Given the description of an element on the screen output the (x, y) to click on. 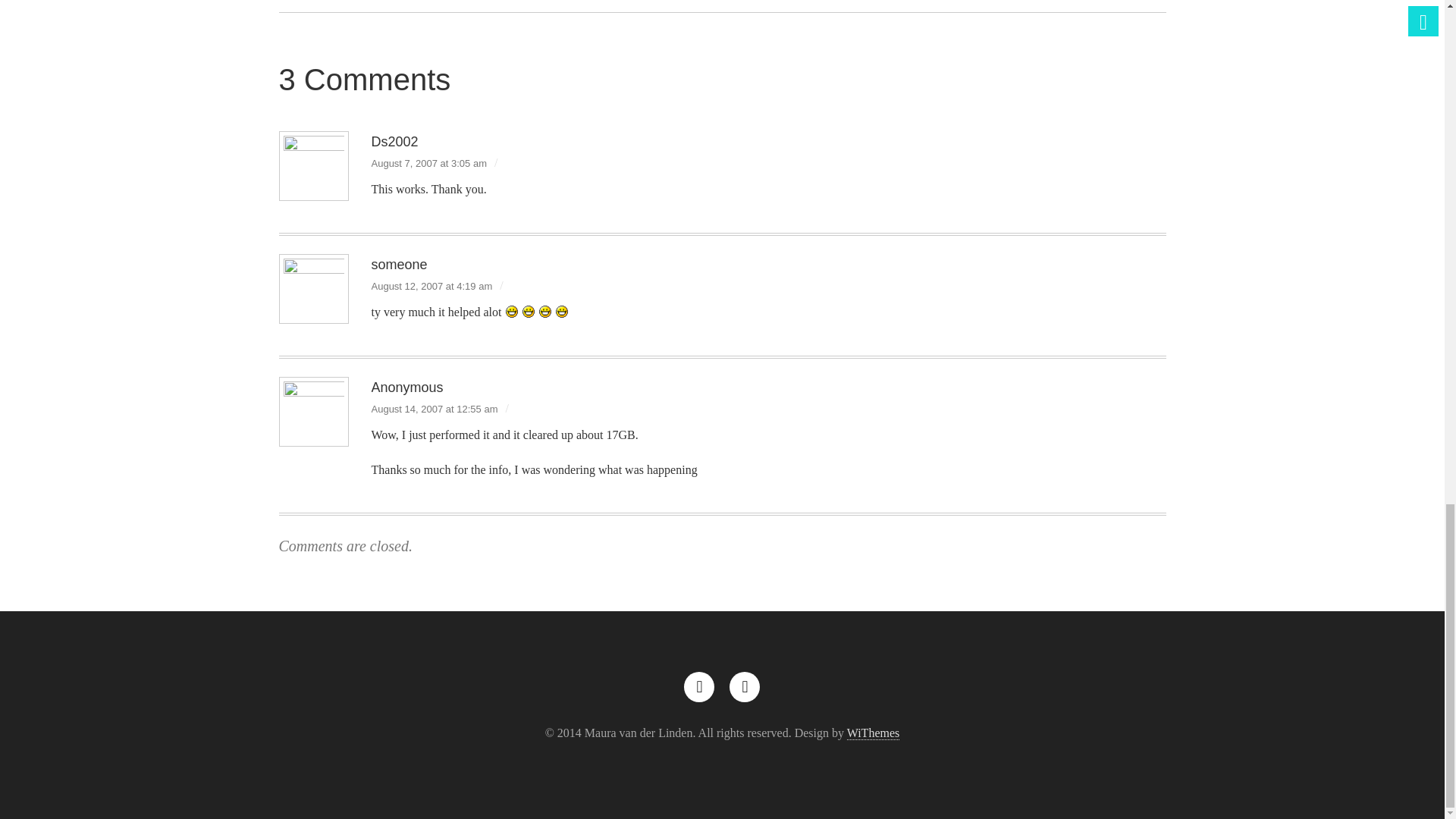
August 14, 2007 at 12:55 am (434, 408)
August 7, 2007 at 3:05 am (429, 163)
August 12, 2007 at 4:19 am (432, 285)
WiThemes (873, 733)
